Given the description of an element on the screen output the (x, y) to click on. 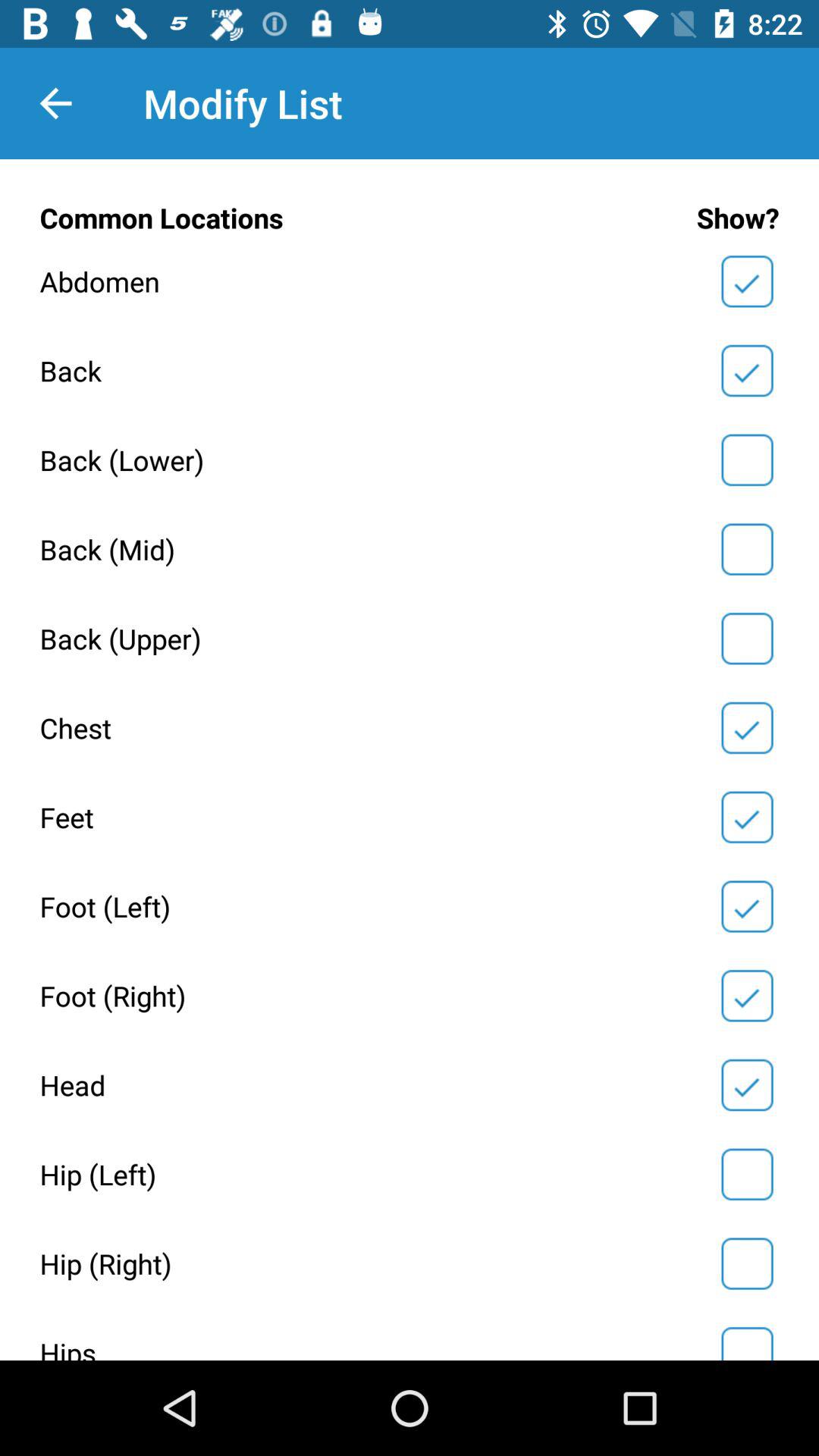
toggle option (747, 281)
